Given the description of an element on the screen output the (x, y) to click on. 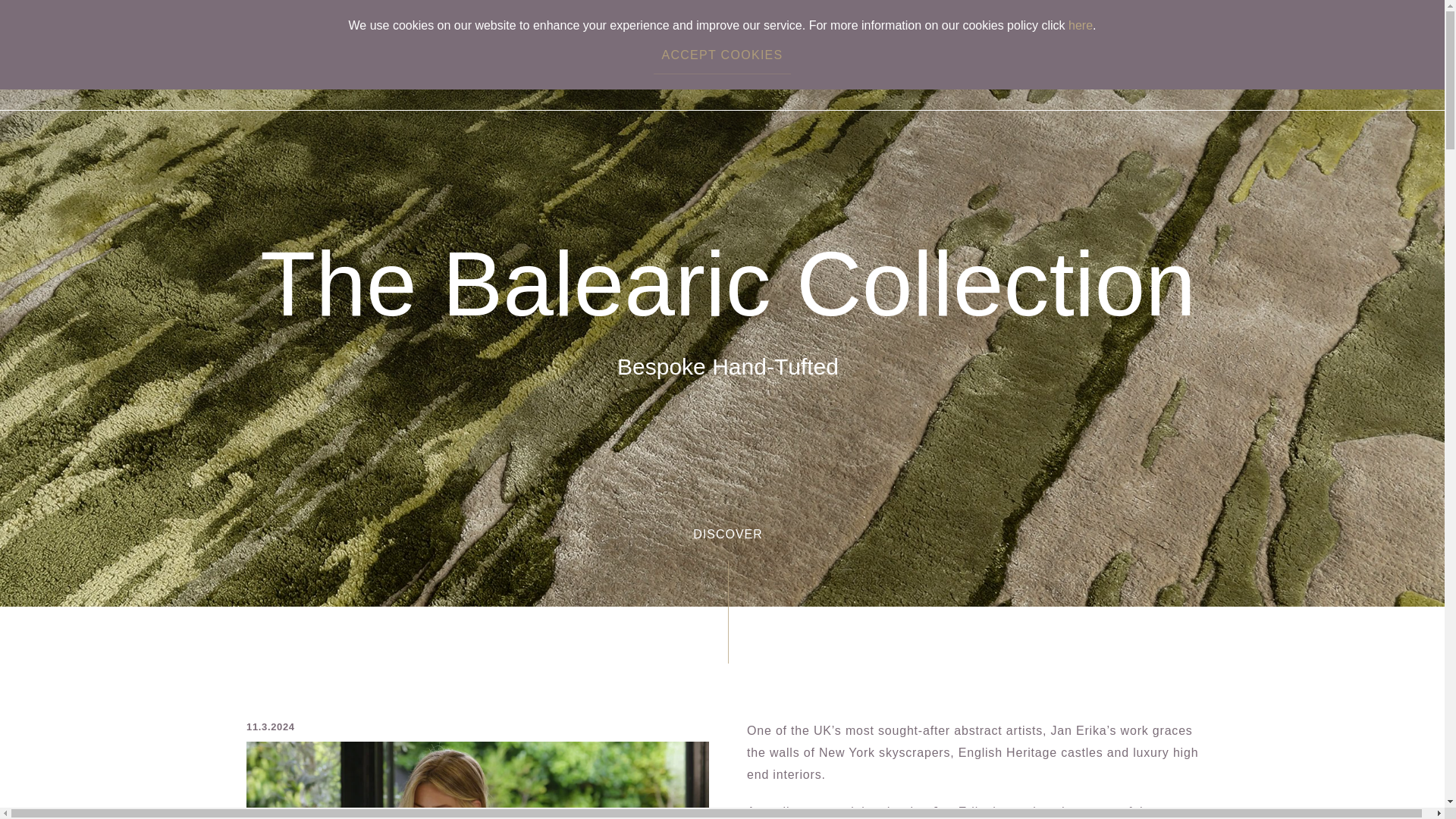
here (1080, 24)
ACCEPT COOKIES (722, 55)
